Given the description of an element on the screen output the (x, y) to click on. 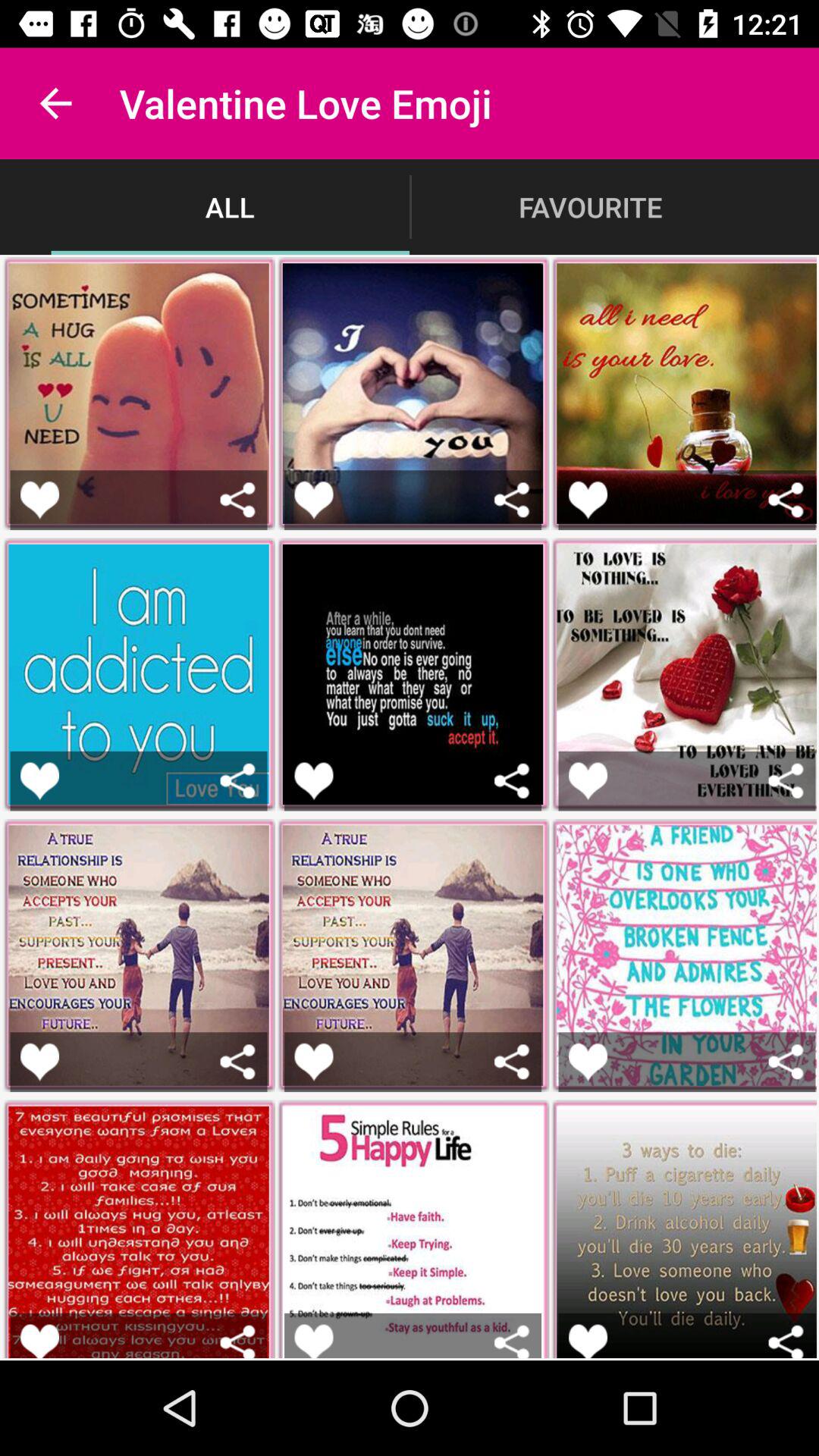
favorite button (39, 1061)
